Given the description of an element on the screen output the (x, y) to click on. 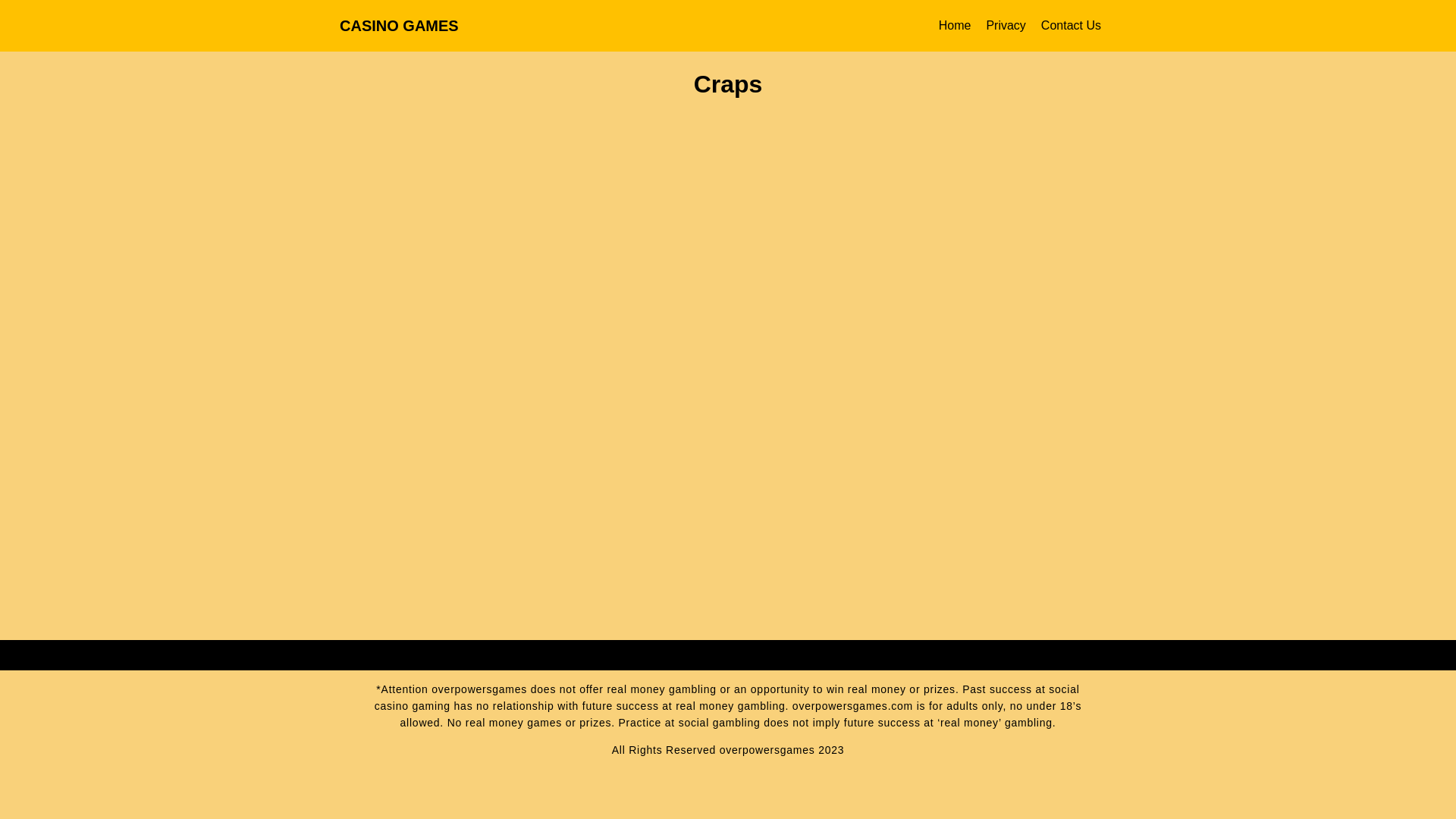
Privacy (1005, 25)
Contact Us (1070, 25)
Home (955, 25)
CASINO GAMES (398, 24)
